Given the description of an element on the screen output the (x, y) to click on. 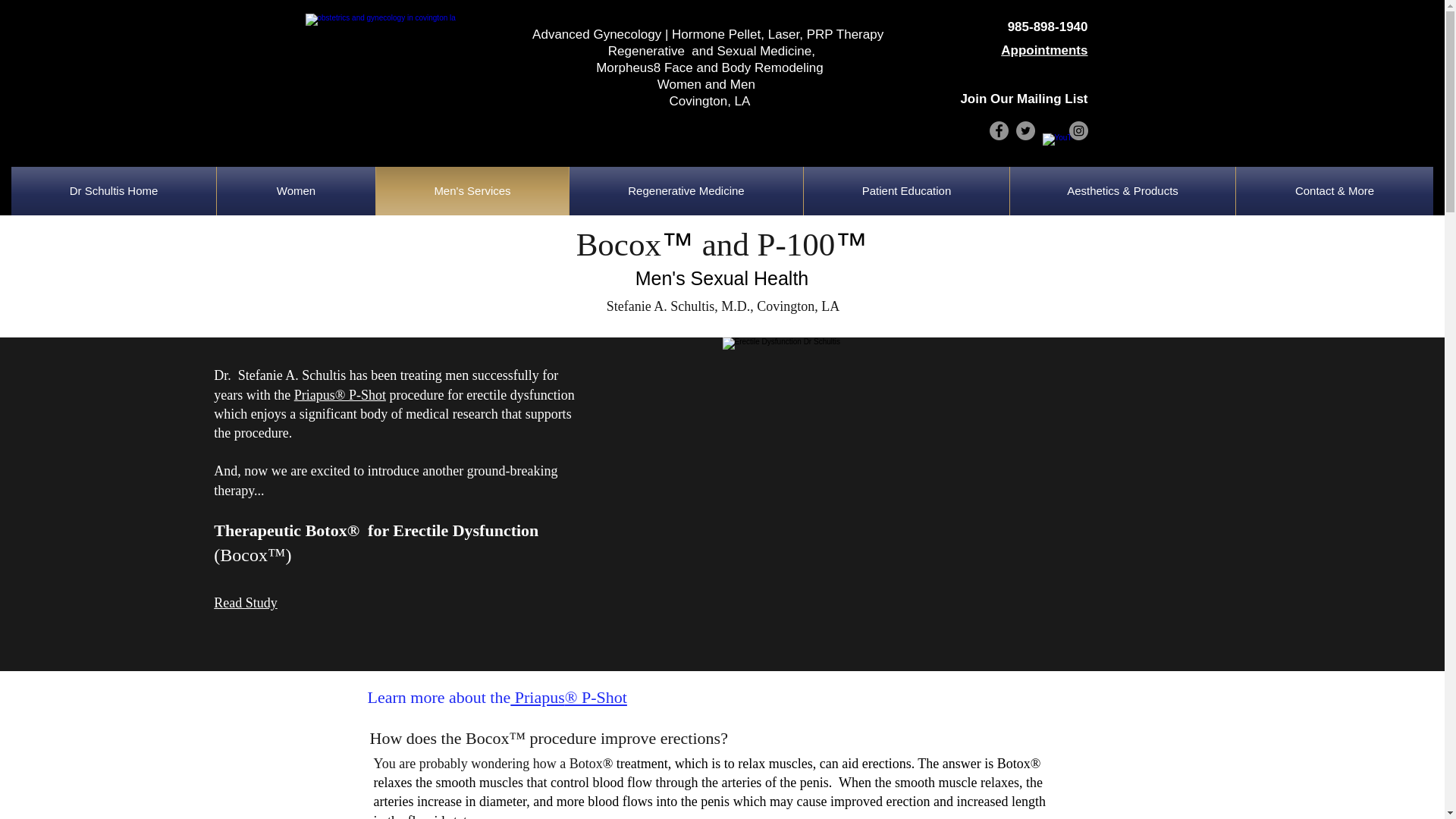
Men's Services (472, 191)
Dr Schultis Home (113, 191)
Join Our Mailing List (1023, 98)
985-898-1940 (1047, 26)
Appointments (1044, 50)
